Given the description of an element on the screen output the (x, y) to click on. 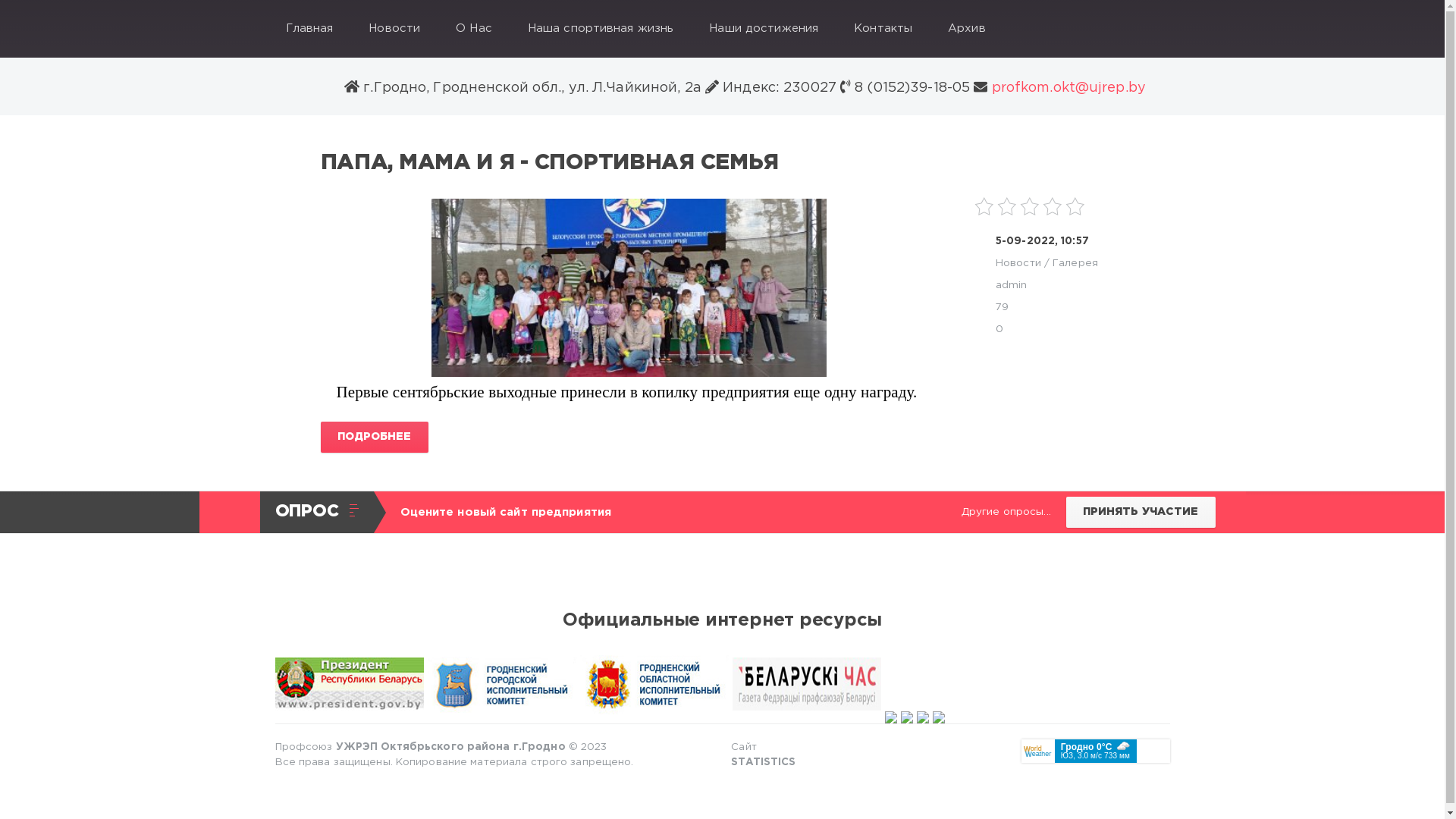
4 Element type: text (1052, 205)
0 Element type: text (999, 328)
5 Element type: text (1074, 205)
admin Element type: text (1011, 284)
1 Element type: text (983, 205)
5-09-2022, 10:57 Element type: text (1041, 240)
profkom.okt@ujrep.by Element type: text (1066, 87)
3 Element type: text (1029, 205)
2 Element type: text (1006, 205)
